Given the description of an element on the screen output the (x, y) to click on. 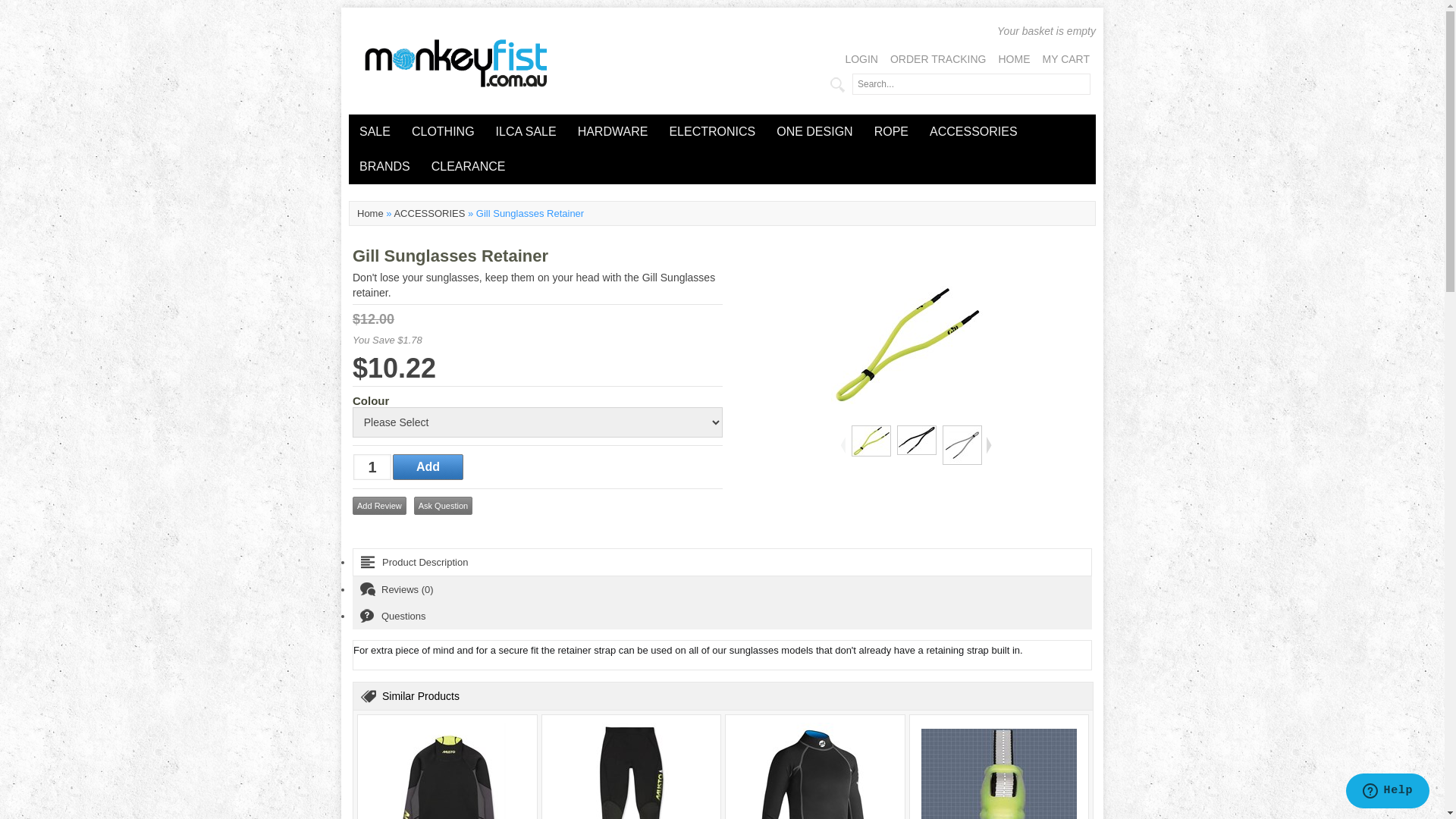
Add Review Element type: text (379, 505)
Home Element type: text (370, 213)
HARDWARE Element type: text (612, 131)
ONE DESIGN Element type: text (813, 131)
LOGIN Element type: text (861, 59)
Gill Sunglasses Retainer Element type: hover (906, 344)
SALE Element type: text (374, 131)
HOME Element type: text (1013, 59)
ELECTRONICS Element type: text (711, 131)
ORDER TRACKING Element type: text (938, 59)
ILCA SALE Element type: text (526, 131)
BRANDS Element type: text (384, 166)
Questions Element type: text (722, 615)
MY CART Element type: text (1065, 59)
< Element type: text (843, 444)
Add Element type: text (427, 467)
ACCESSORIES Element type: text (973, 131)
Reviews (0) Element type: text (722, 589)
CLEARANCE Element type: text (468, 166)
Product Description Element type: text (722, 562)
ACCESSORIES Element type: text (428, 213)
ROPE Element type: text (891, 131)
Opens a widget where you can chat to one of our agents Element type: hover (1387, 792)
> Element type: text (987, 444)
Ask Question Element type: text (443, 505)
CLOTHING Element type: text (443, 131)
